Given the description of an element on the screen output the (x, y) to click on. 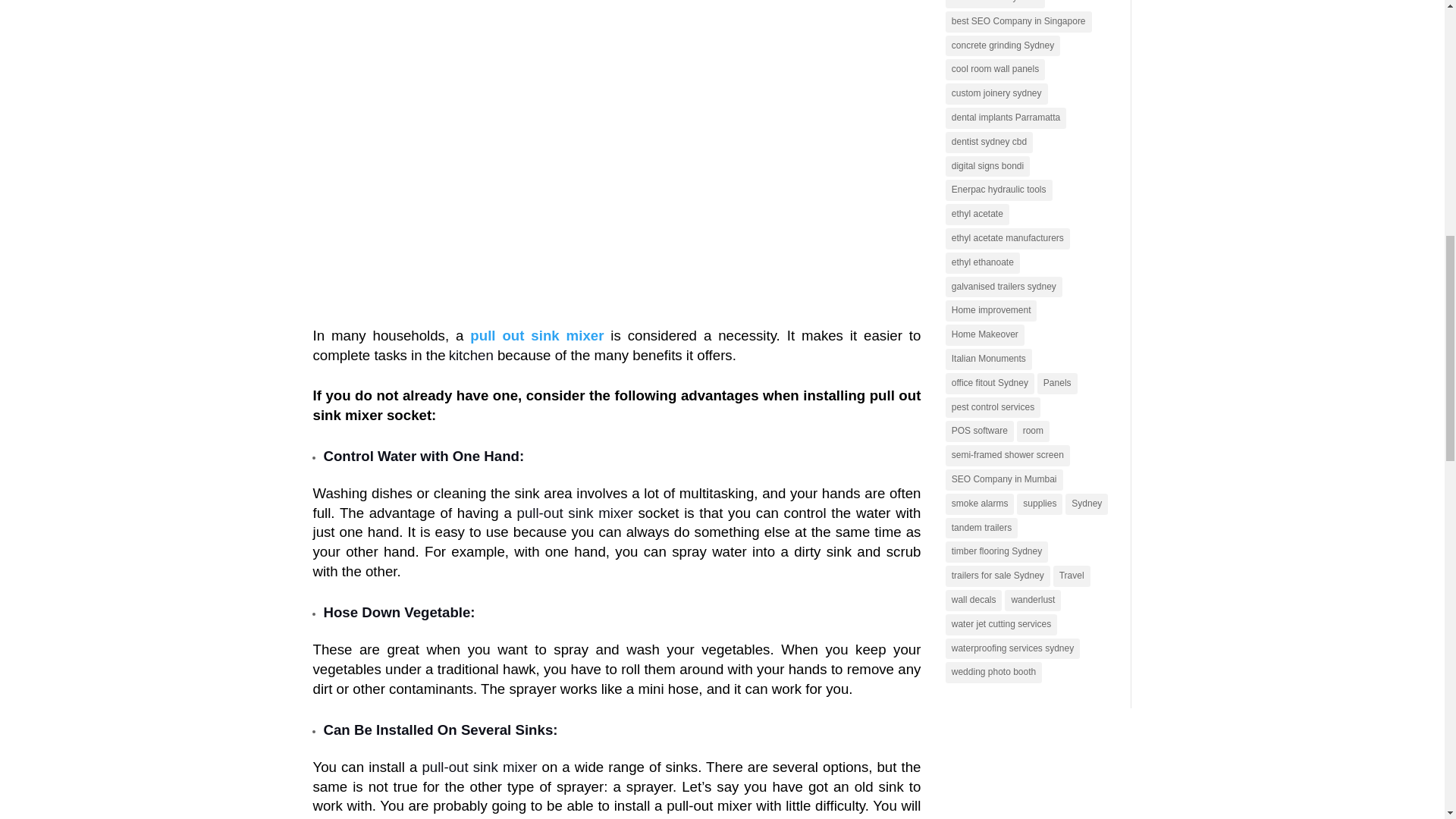
ethyl acetate (976, 214)
office fitout Sydney (988, 383)
dental implants Parramatta (1004, 117)
pull out sink mixer (537, 335)
cool room wall panels (994, 69)
custom joinery sydney (996, 93)
Home improvement (990, 310)
ethyl acetate manufacturers (1007, 238)
SEO Company in Mumbai (1003, 479)
